Given the description of an element on the screen output the (x, y) to click on. 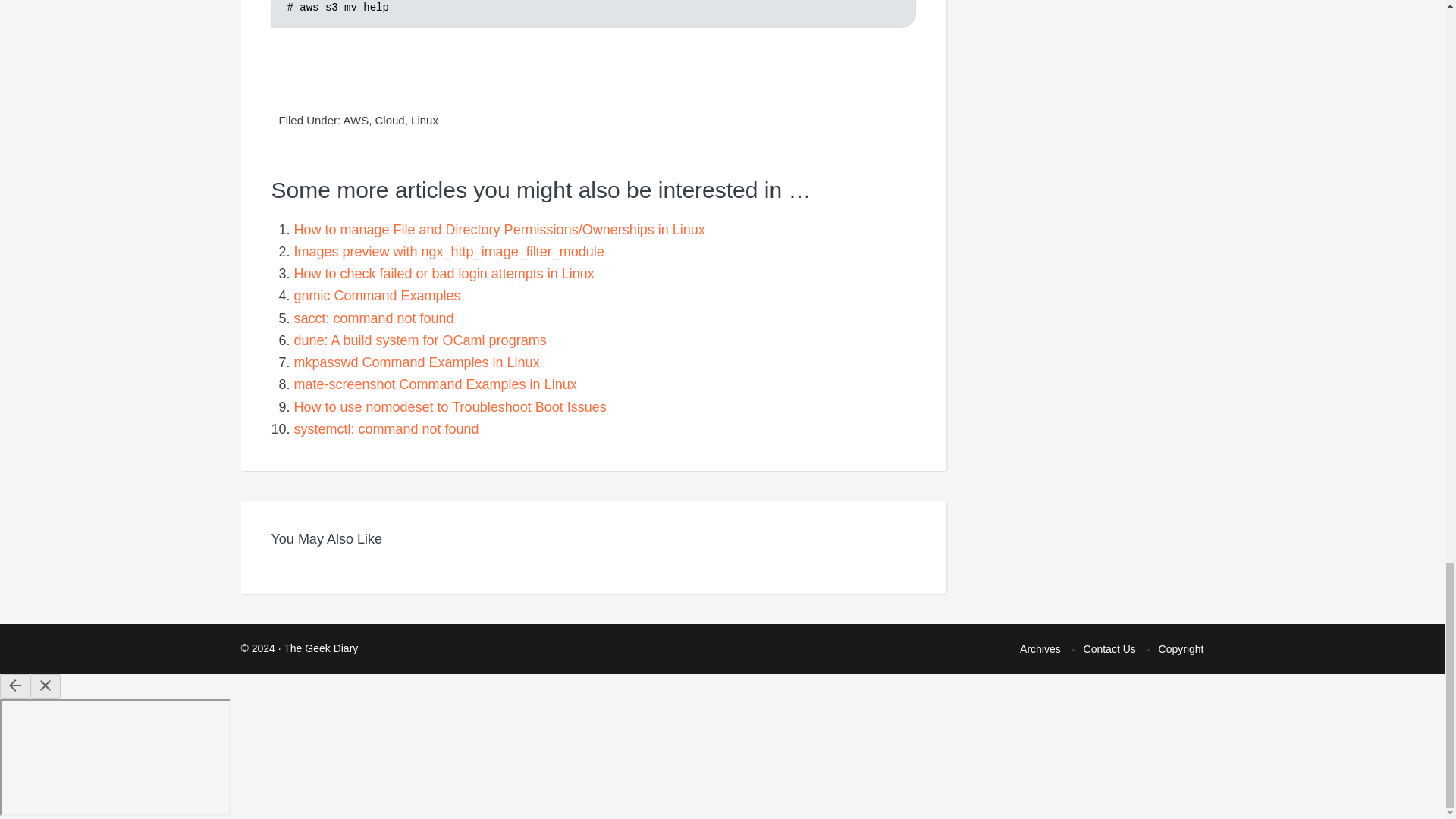
Permanent Link tomate-screenshot Command Examples in Linux (435, 384)
Archives (1040, 648)
Permanent Link tosystemctl: command not found (386, 428)
How to check failed or bad login attempts in Linux (444, 273)
mkpasswd Command Examples in Linux (417, 362)
Permanent Link tognmic Command Examples (377, 295)
Cloud (389, 119)
mate-screenshot Command Examples in Linux (435, 384)
gnmic Command Examples (377, 295)
The Geek Diary (320, 648)
dune: A build system for OCaml programs (420, 340)
systemctl: command not found (386, 428)
sacct: command not found (374, 318)
